Given the description of an element on the screen output the (x, y) to click on. 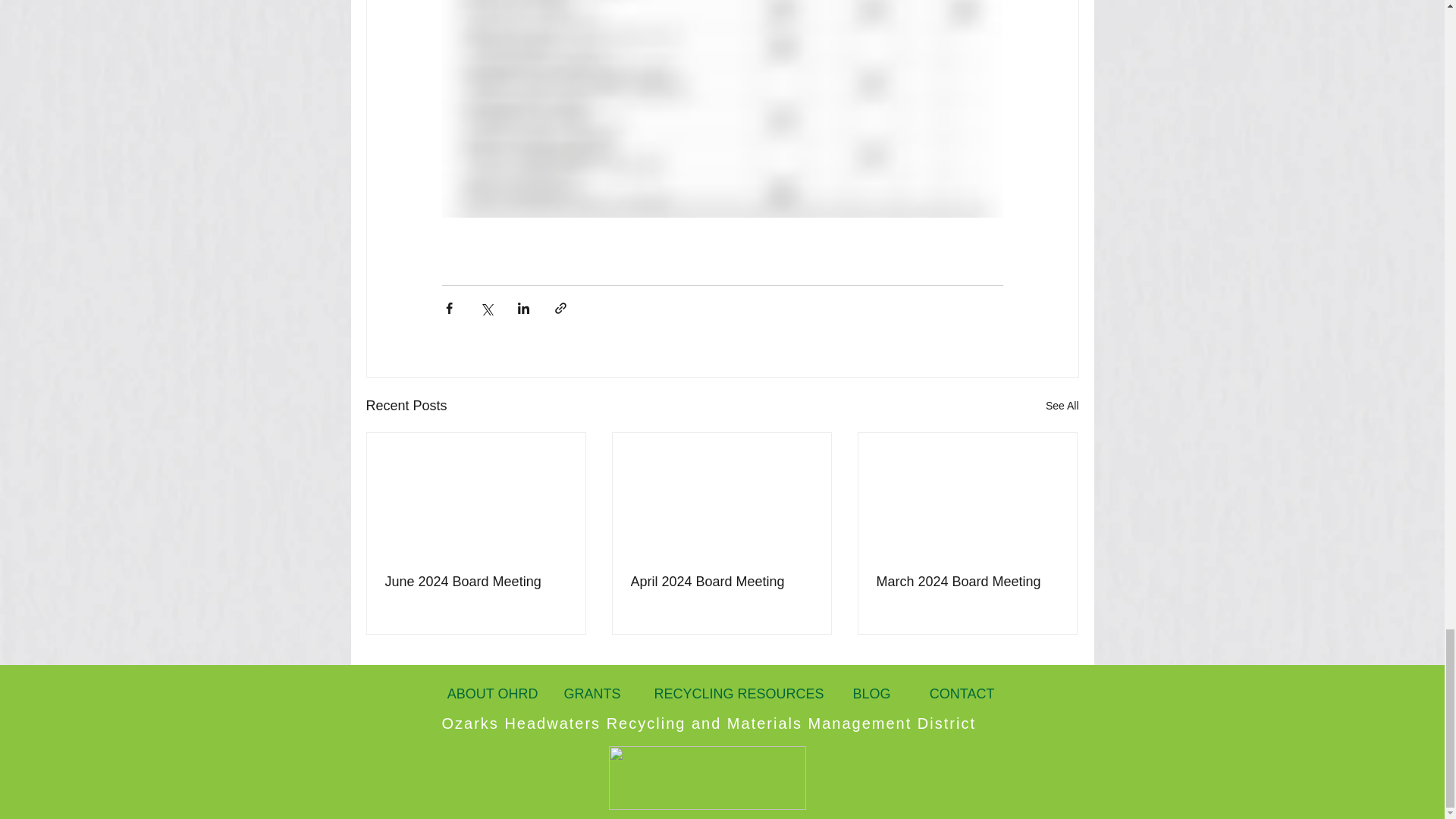
CONTACT (960, 694)
March 2024 Board Meeting (967, 581)
April 2024 Board Meeting (721, 581)
See All (1061, 405)
GRANTS (591, 694)
BLOG (869, 694)
RECYCLING RESOURCES (738, 694)
ABOUT OHRD (489, 694)
June 2024 Board Meeting (476, 581)
